Given the description of an element on the screen output the (x, y) to click on. 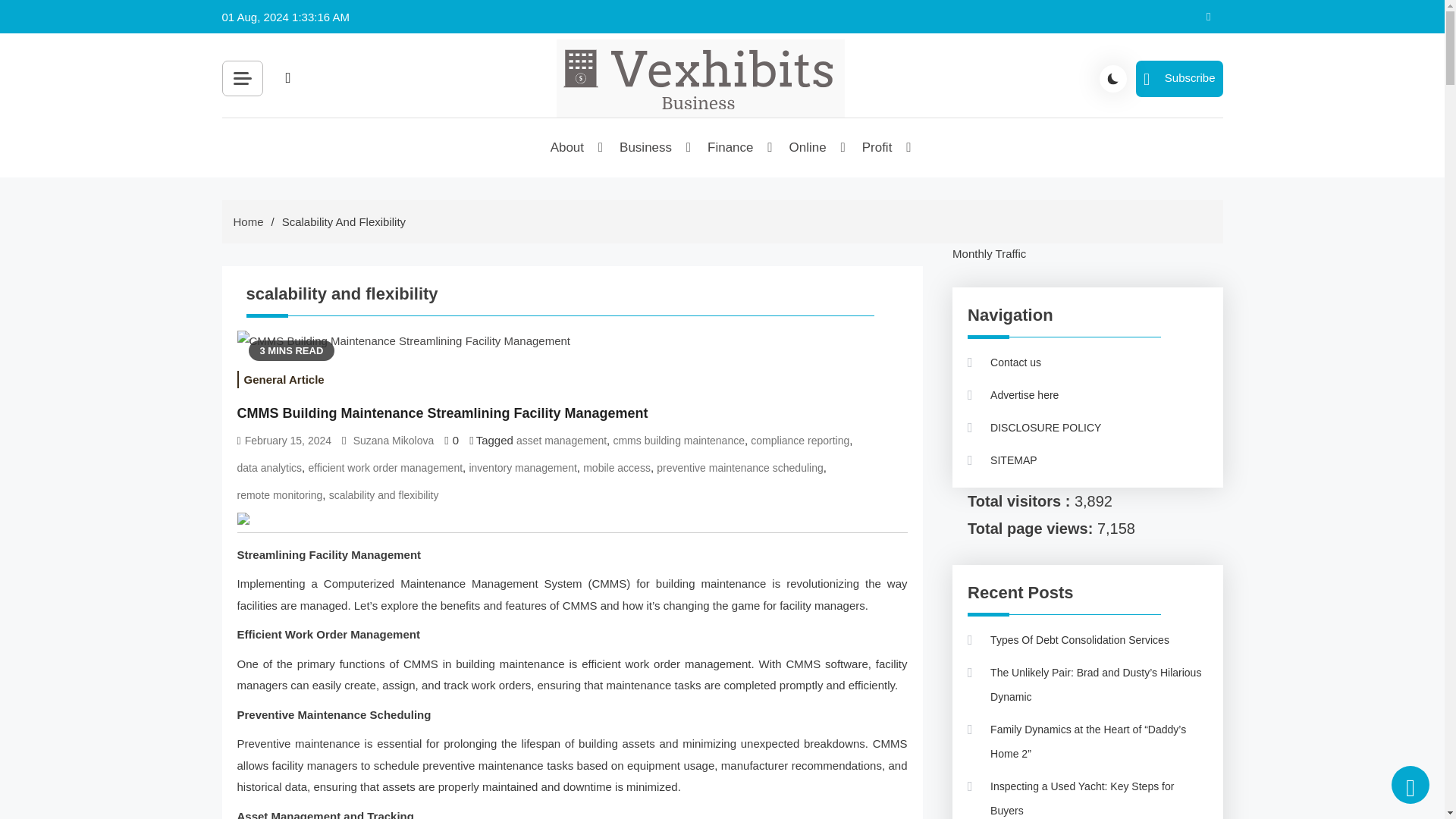
About (568, 147)
Vexhibits (616, 137)
site mode button (1112, 78)
Profit (878, 147)
Online (809, 147)
Finance (730, 147)
Business (646, 147)
Search (458, 112)
Subscribe (1179, 78)
